Given the description of an element on the screen output the (x, y) to click on. 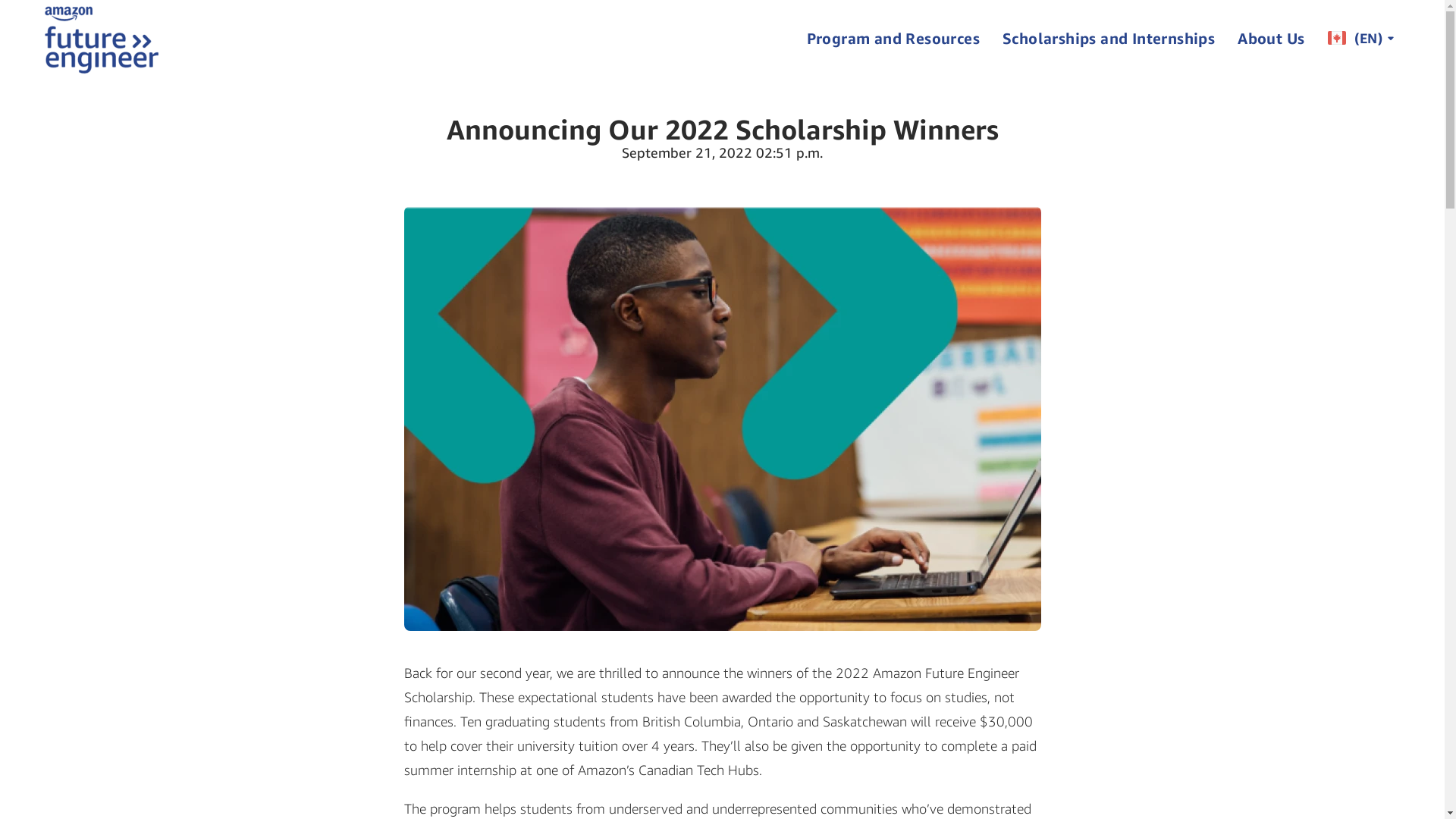
Program and Resources Element type: text (893, 37)
Scholarships and Internships Element type: text (1108, 37)
(EN) Element type: text (1360, 37)
